Given the description of an element on the screen output the (x, y) to click on. 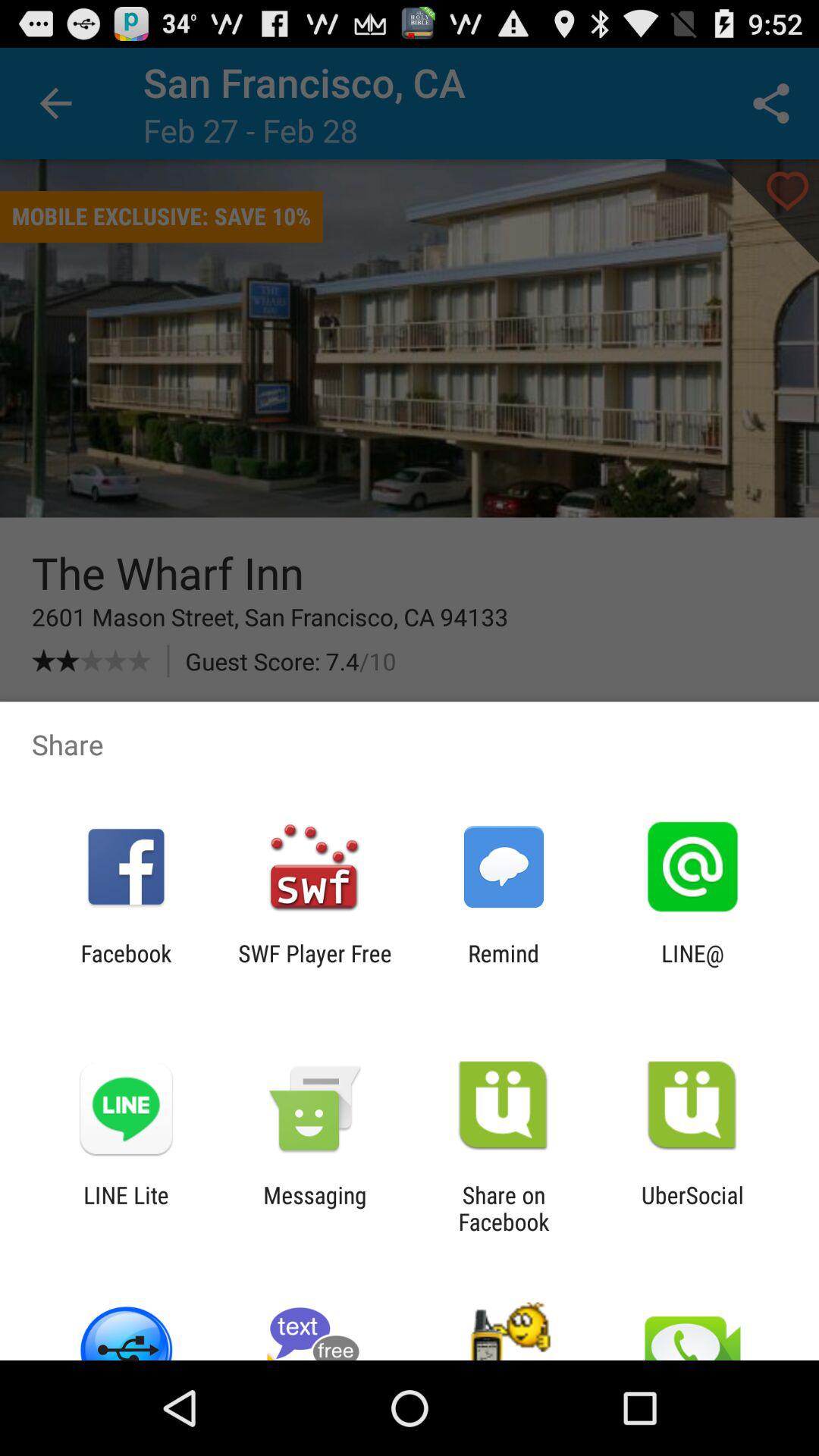
select share on facebook item (503, 1208)
